Given the description of an element on the screen output the (x, y) to click on. 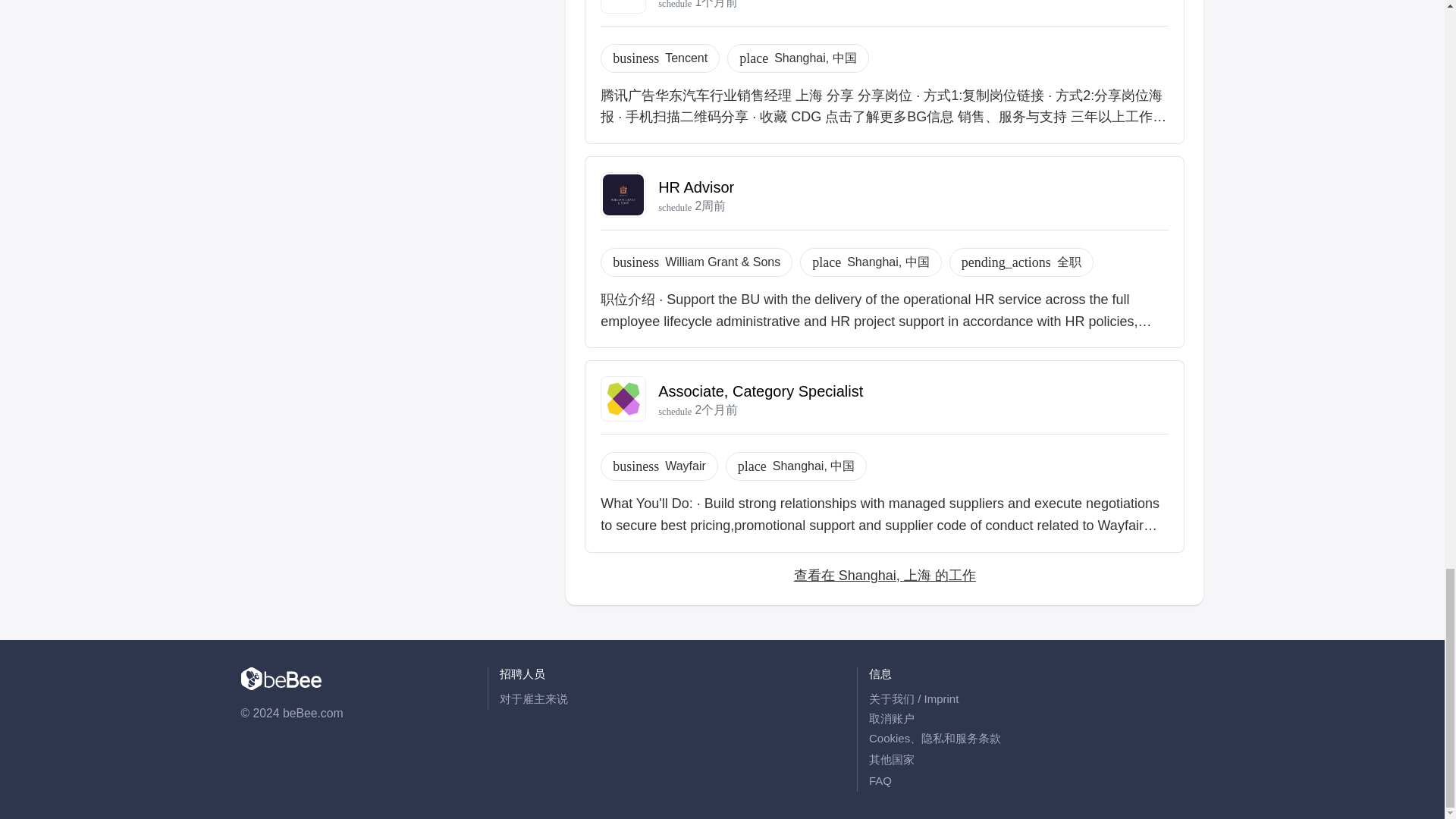
Tencent (686, 57)
Wayfair (685, 465)
Associate, Category Specialist (760, 391)
HR Advisor (695, 187)
HR Advisor (695, 187)
Associate, Category Specialist (760, 391)
